Given the description of an element on the screen output the (x, y) to click on. 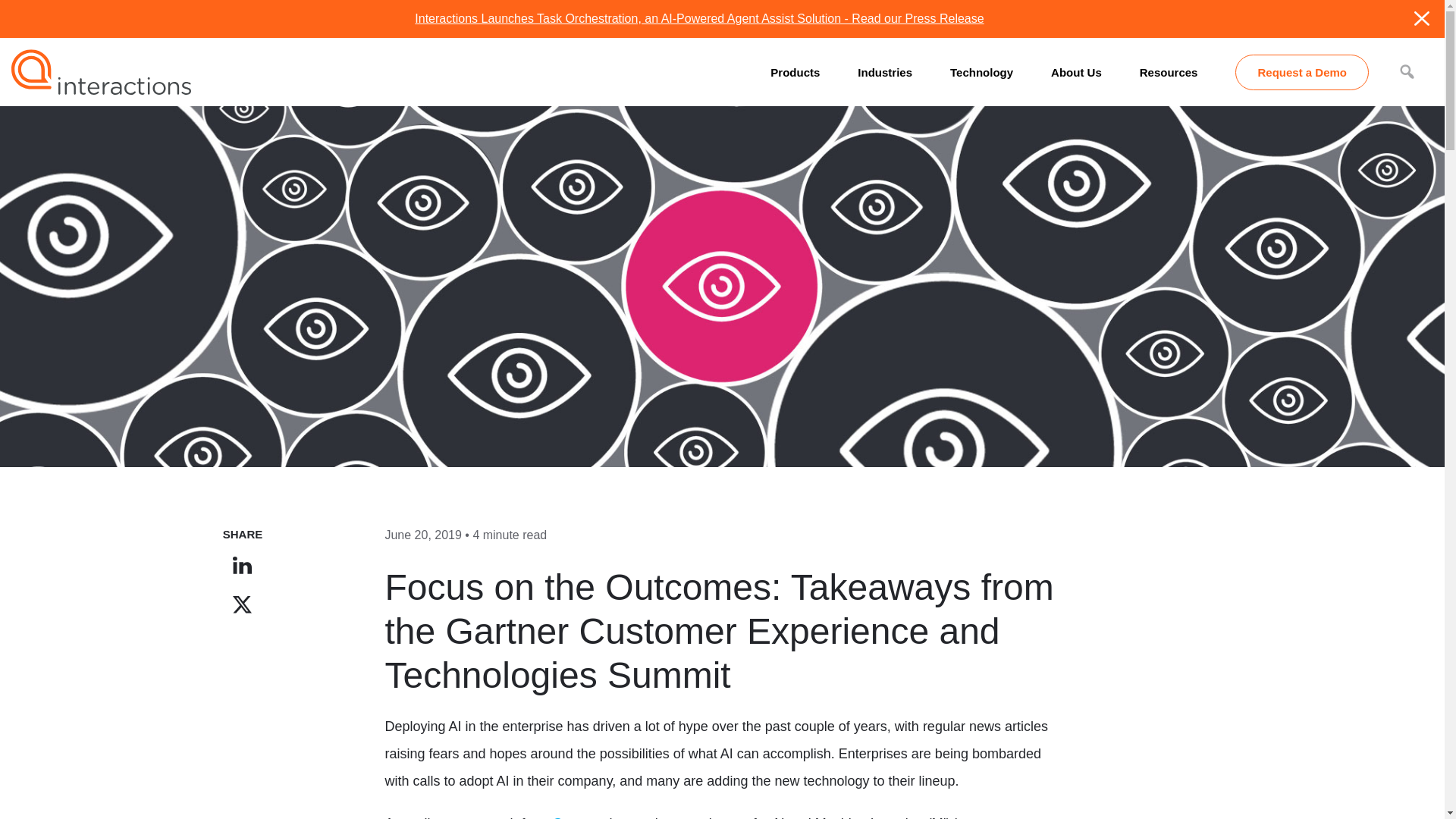
Search (15, 8)
Interactions (100, 70)
Products (794, 71)
About Us (1076, 71)
Technology (981, 71)
Industries (884, 71)
